Given the description of an element on the screen output the (x, y) to click on. 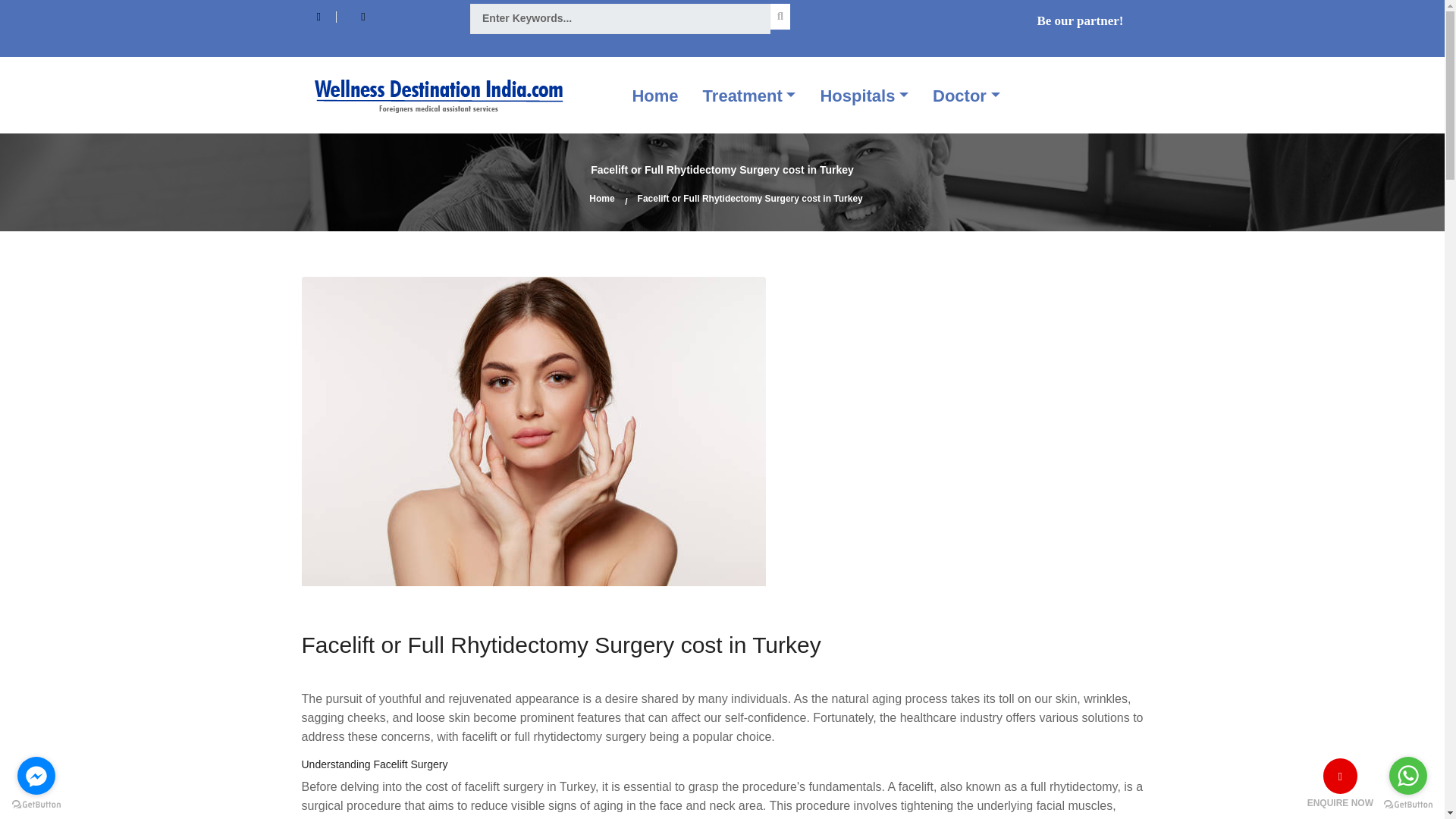
Home (655, 95)
Doctor (965, 95)
Be our partner! (1072, 21)
Treatment (749, 95)
Hospitals (864, 95)
